Given the description of an element on the screen output the (x, y) to click on. 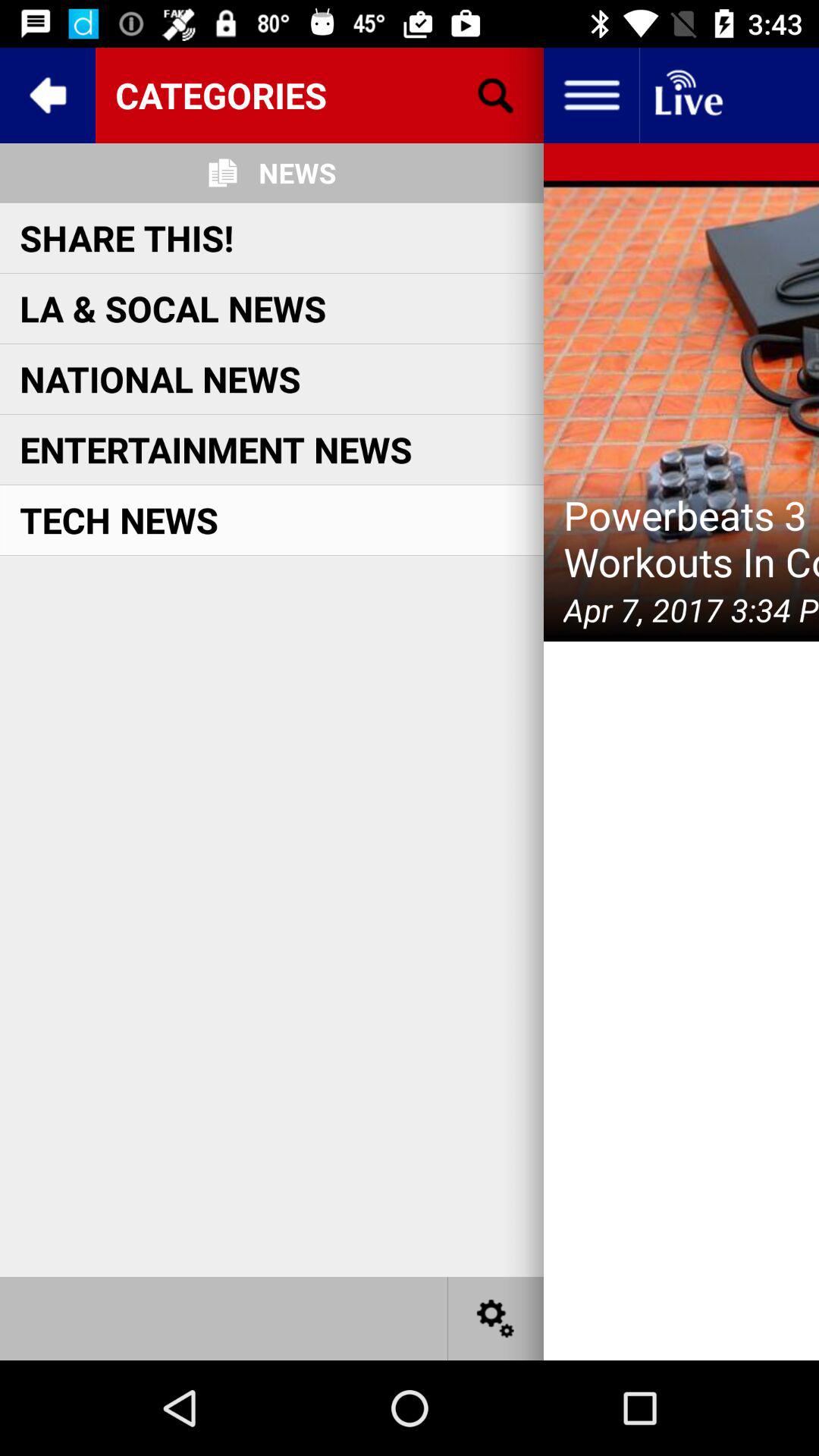
turn on icon next to entertainment news (681, 410)
